Given the description of an element on the screen output the (x, y) to click on. 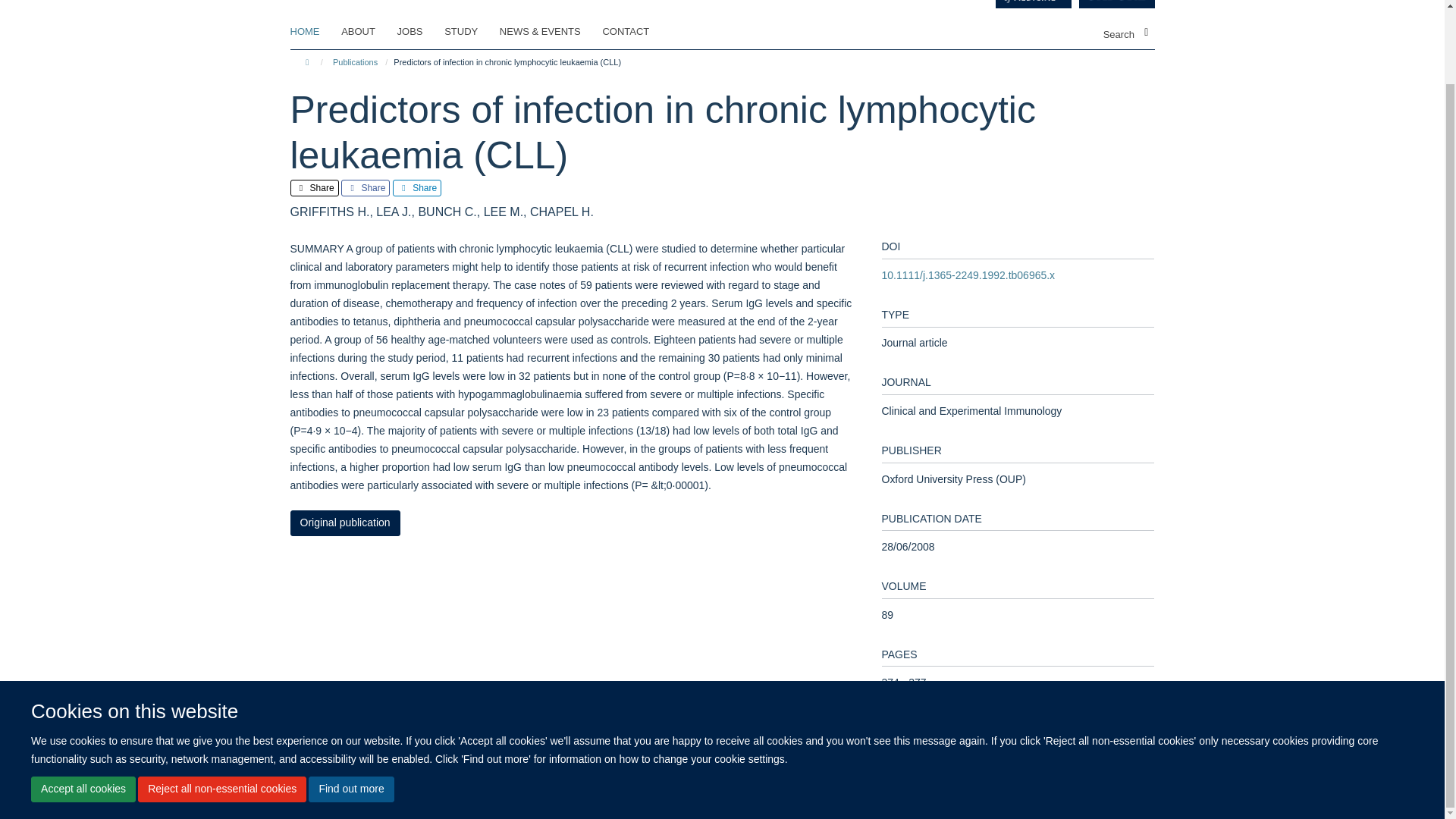
Accept all cookies (82, 706)
ABOUT (367, 31)
Reject all non-essential cookies (221, 706)
HOME (313, 31)
Find out more (350, 706)
